Given the description of an element on the screen output the (x, y) to click on. 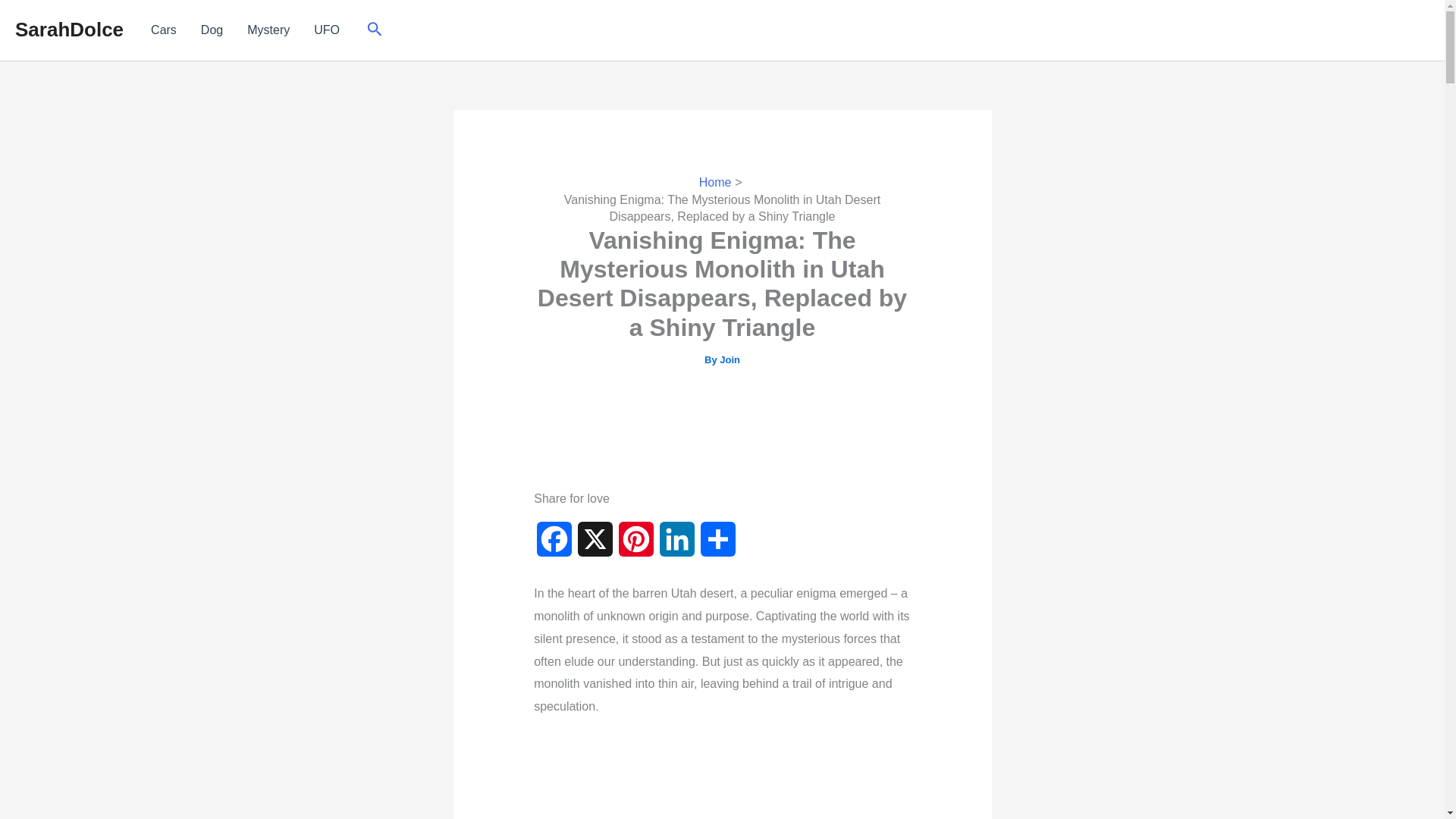
View all posts by Join (729, 359)
Join (729, 359)
Mystery (267, 30)
Advertisement (721, 778)
SarahDolce (68, 29)
Advertisement (721, 429)
Home (715, 182)
